Given the description of an element on the screen output the (x, y) to click on. 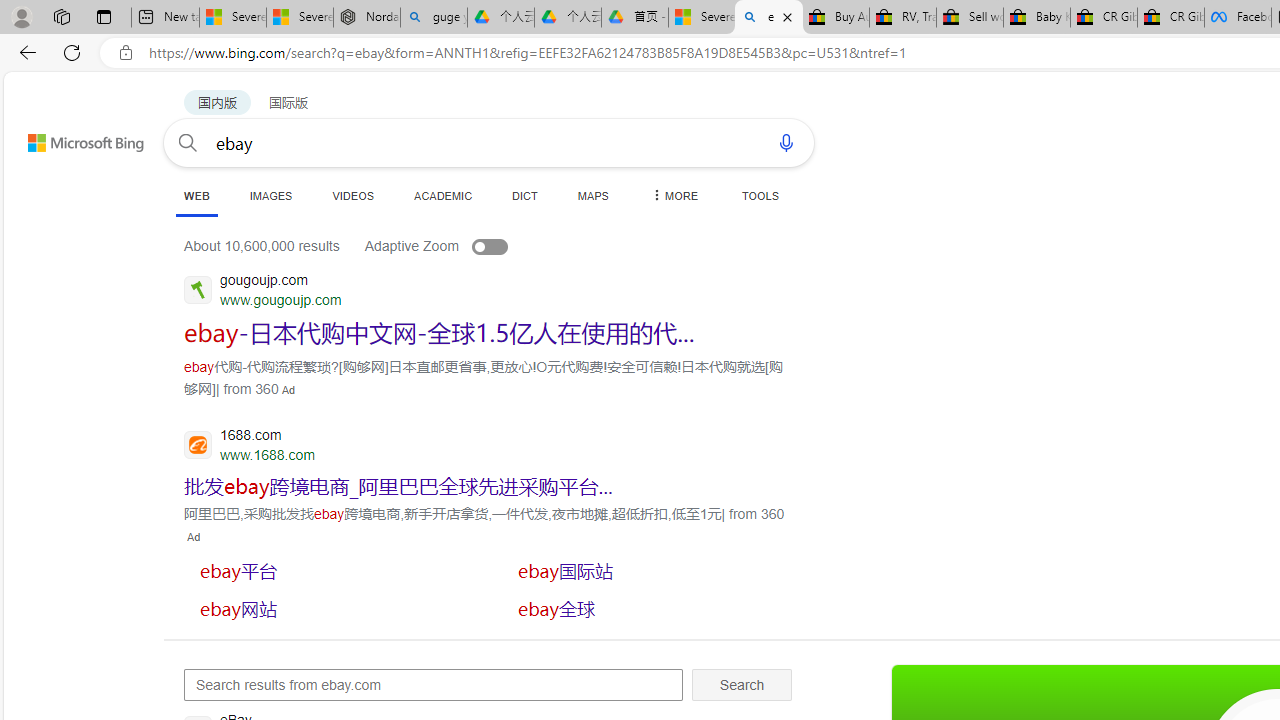
Search results from ebay.com (433, 684)
Adaptive Zoom (456, 245)
SERP,5713 (651, 570)
SERP,5704 (439, 331)
Dropdown Menu (673, 195)
DICT (525, 195)
